Given the description of an element on the screen output the (x, y) to click on. 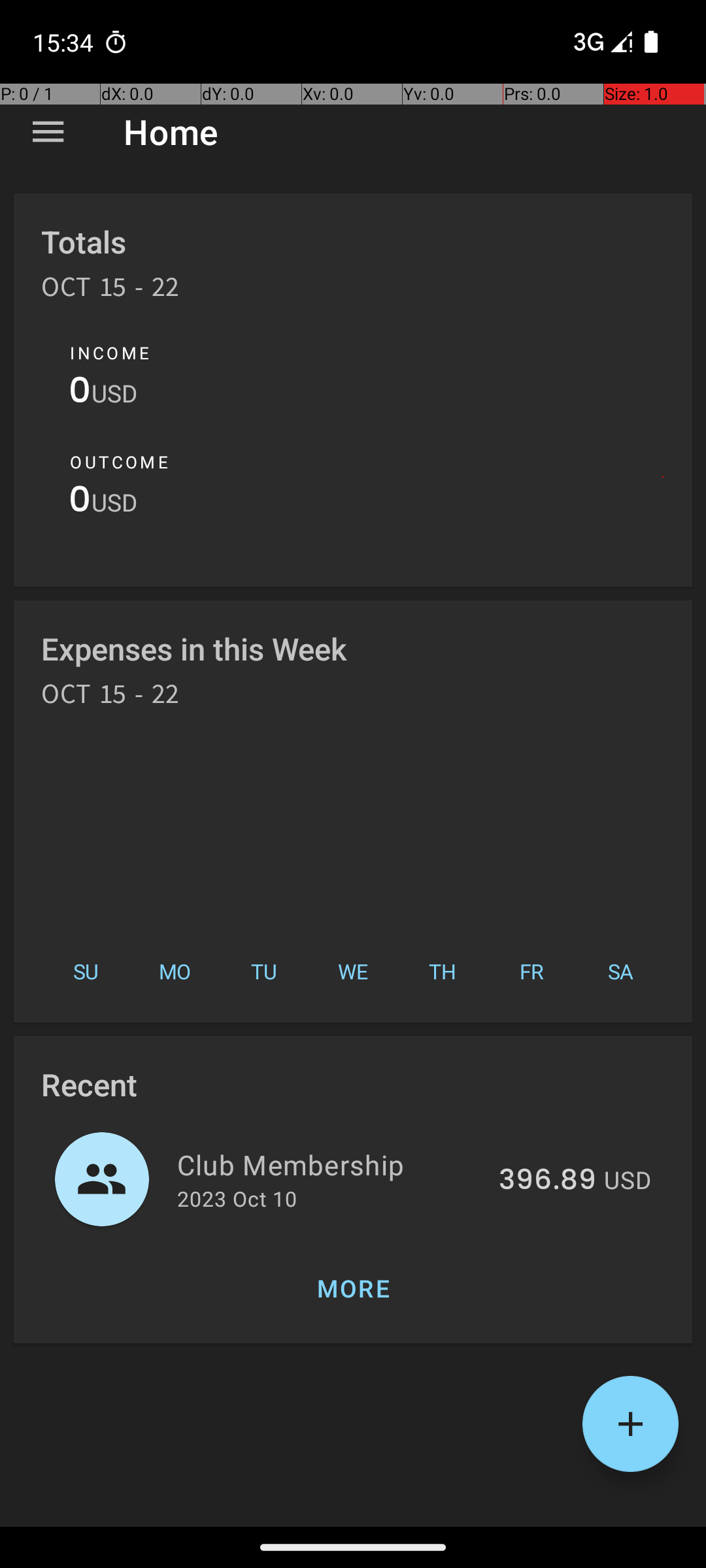
Club Membership Element type: android.widget.TextView (330, 1164)
396.89 Element type: android.widget.TextView (547, 1180)
